Given the description of an element on the screen output the (x, y) to click on. 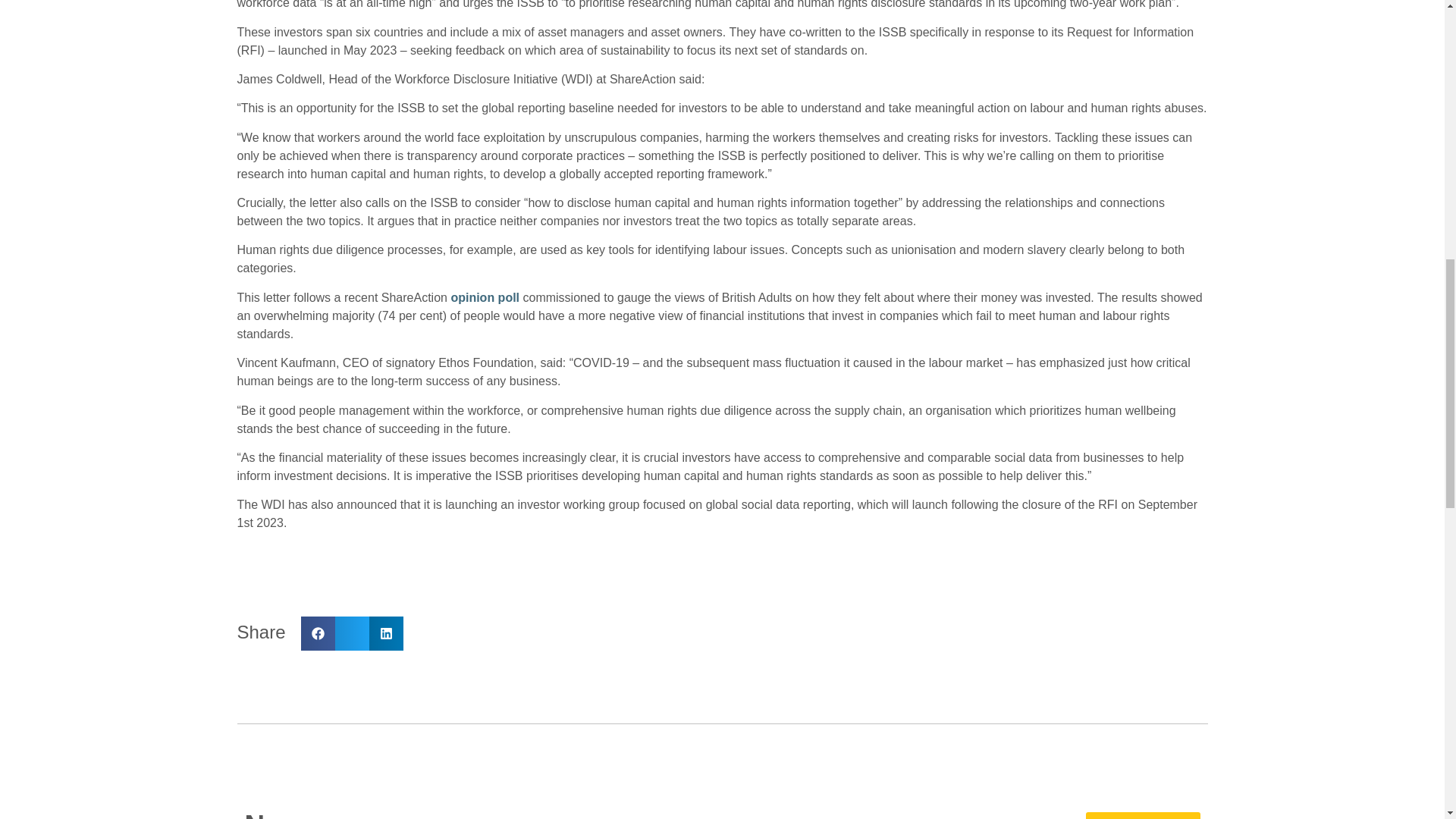
opinion poll (484, 297)
VIEW ALL (1142, 815)
